Given the description of an element on the screen output the (x, y) to click on. 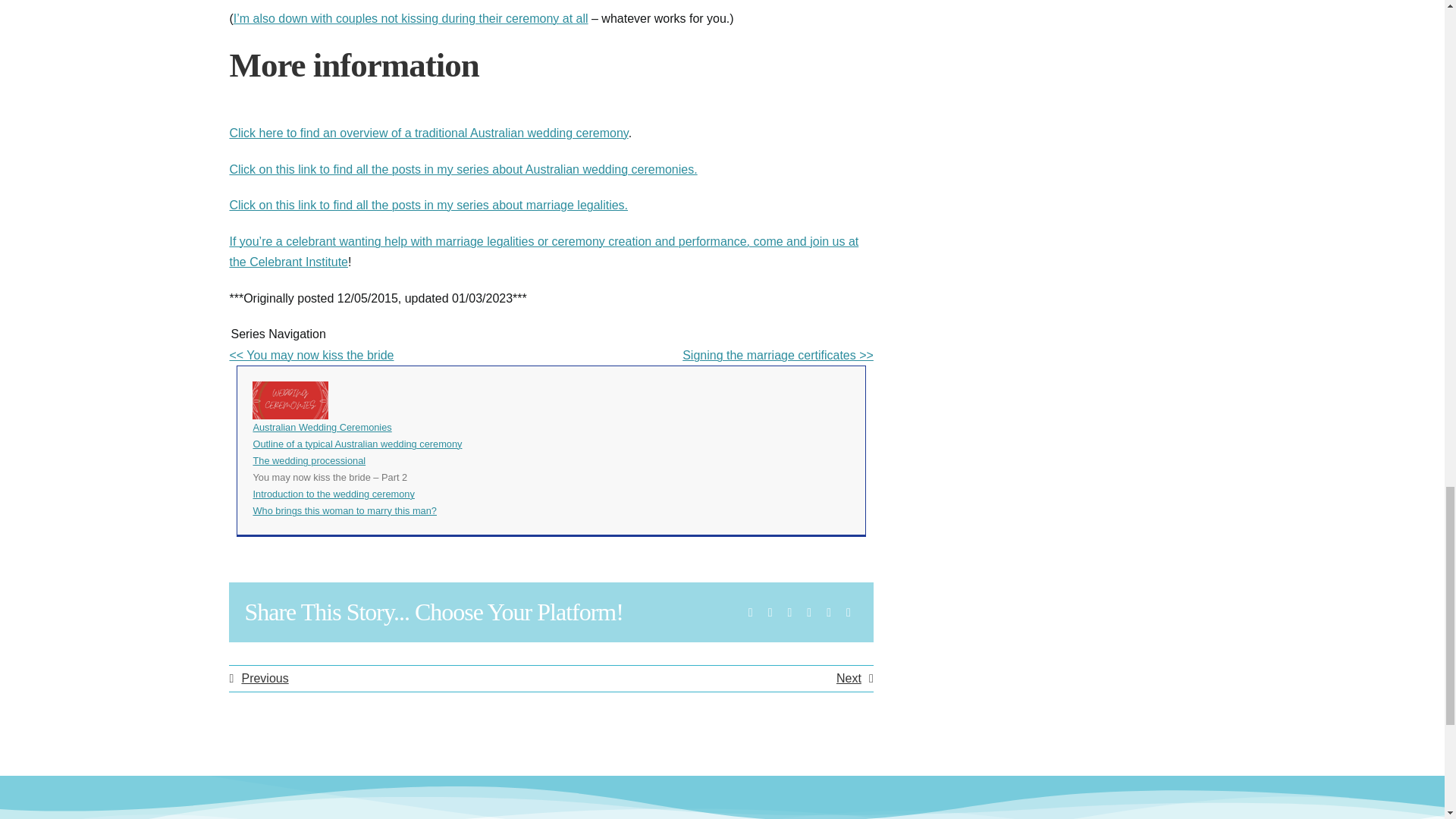
Outline of a typical Australian wedding ceremony (356, 443)
Australian Wedding Ceremonies (321, 427)
The wedding processional (308, 460)
